Given the description of an element on the screen output the (x, y) to click on. 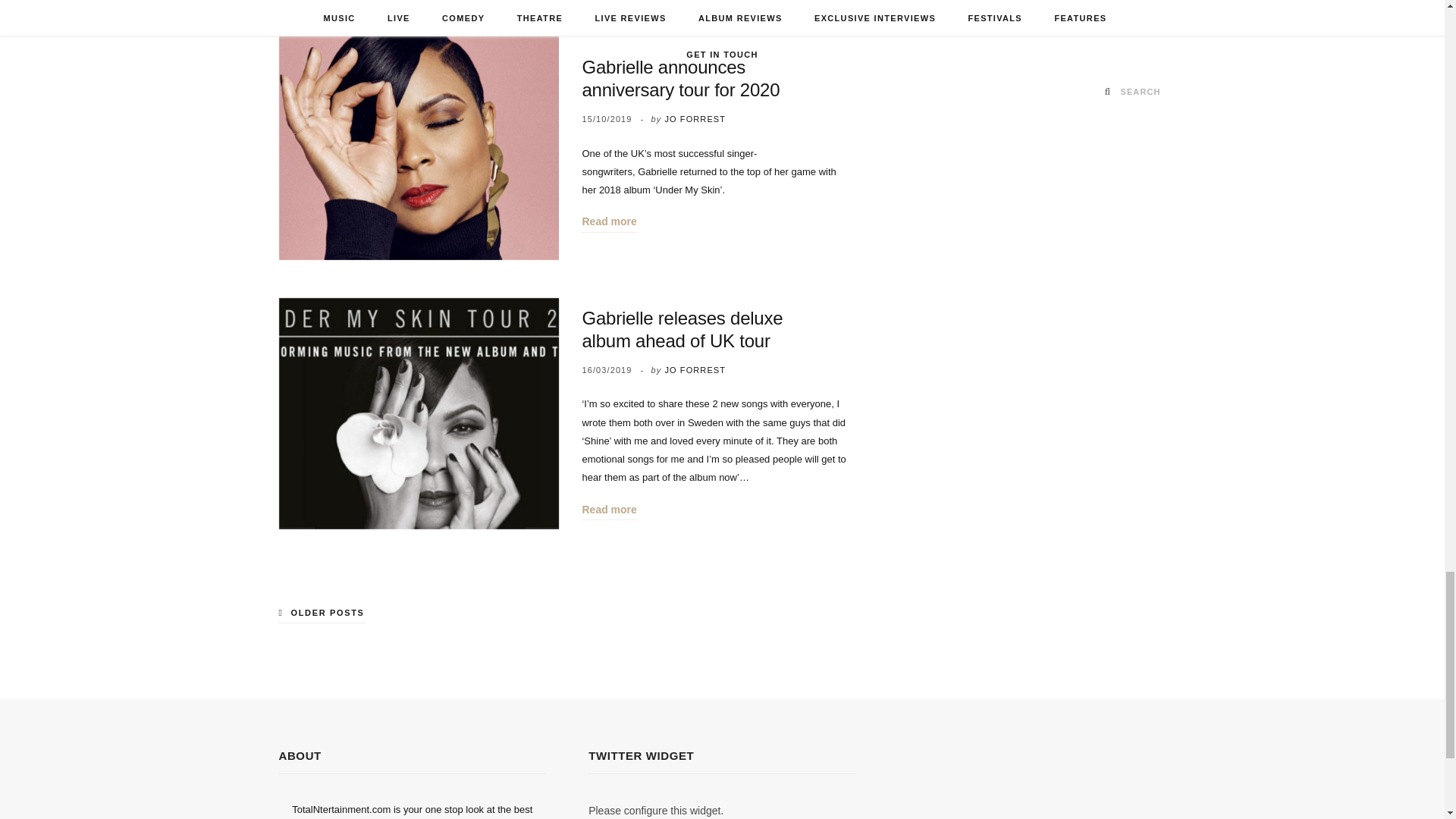
Gabrielle releases deluxe album ahead of UK tour (419, 413)
Gabrielle announces anniversary tour for 2020 (419, 144)
Posts by Jo Forrest (694, 118)
